Given the description of an element on the screen output the (x, y) to click on. 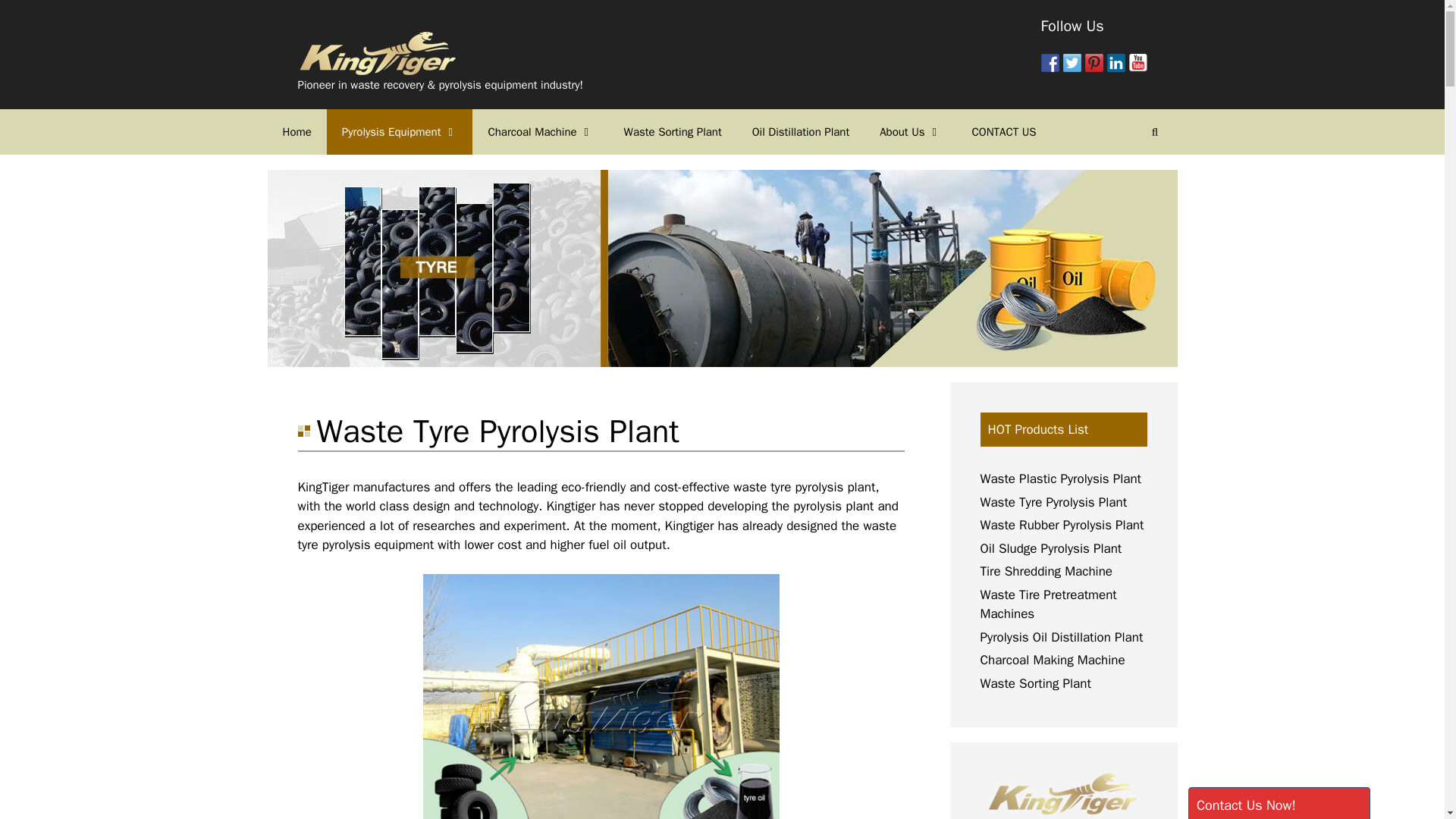
Follow us on Twitter (1071, 63)
Oil Distillation Plant (800, 131)
Follow us on Facebook (1049, 63)
Waste Sorting Plant (672, 131)
Find us on YouTube (1137, 63)
Our board on Pinterest (1093, 63)
Home (296, 131)
About Us (910, 131)
Pyrolysis Equipment (399, 131)
Find us on Linkedin (1115, 63)
CONTACT US (1003, 131)
Charcoal Machine (539, 131)
